Given the description of an element on the screen output the (x, y) to click on. 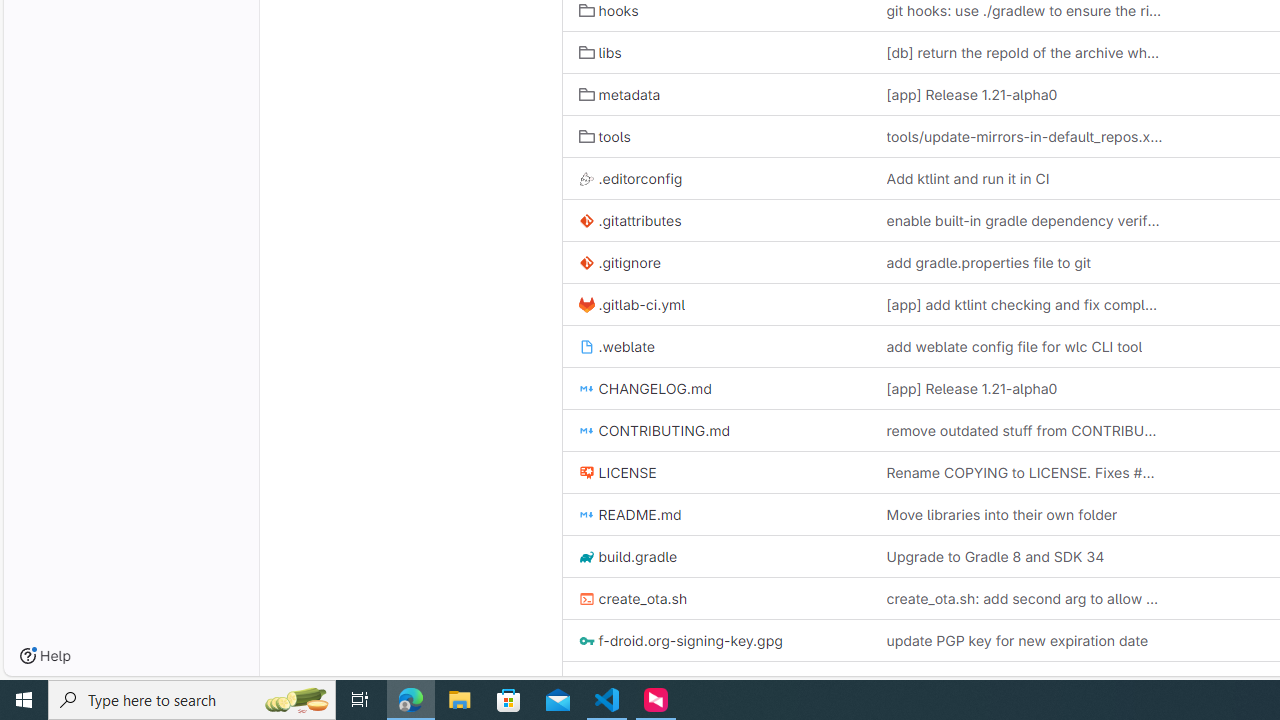
f-droid.org-signing-key.gpg (715, 640)
remove outdated stuff from CONTRIBUTING.md (1024, 430)
build.gradle (628, 556)
README.md (715, 514)
Class: s16 position-relative file-icon (586, 683)
[app] add ktlint checking and fix complaints it has (1024, 304)
Move libraries into their own folder (1001, 514)
LICENSE (617, 472)
Upgrade to Gradle 8 and SDK 34 (994, 556)
update PGP key for new expiration date (1024, 640)
f-droid.org-signing-key.gpg (680, 641)
.weblate (616, 346)
create_ota.sh (715, 597)
